Given the description of an element on the screen output the (x, y) to click on. 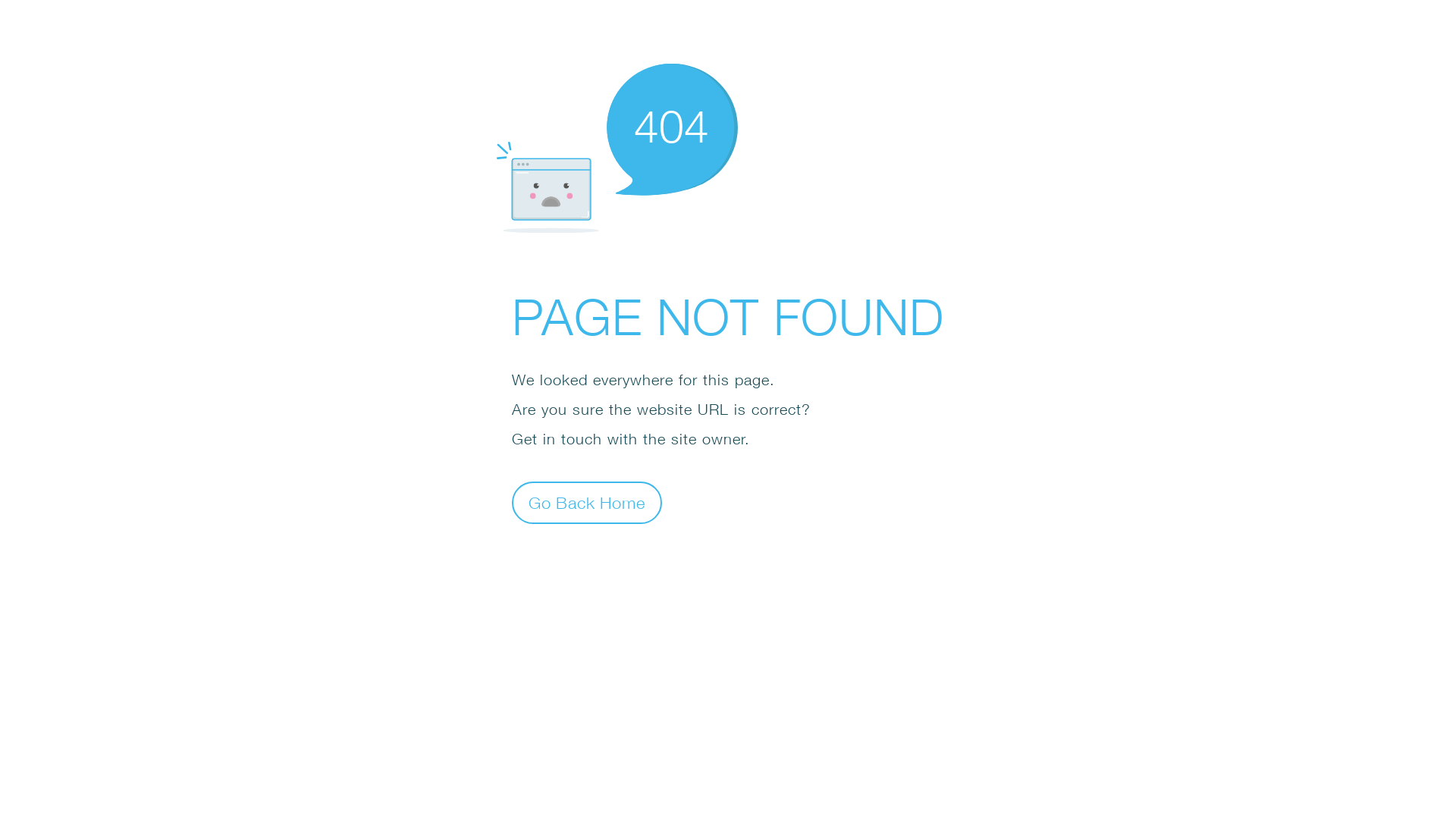
Go Back Home Element type: text (586, 502)
